Given the description of an element on the screen output the (x, y) to click on. 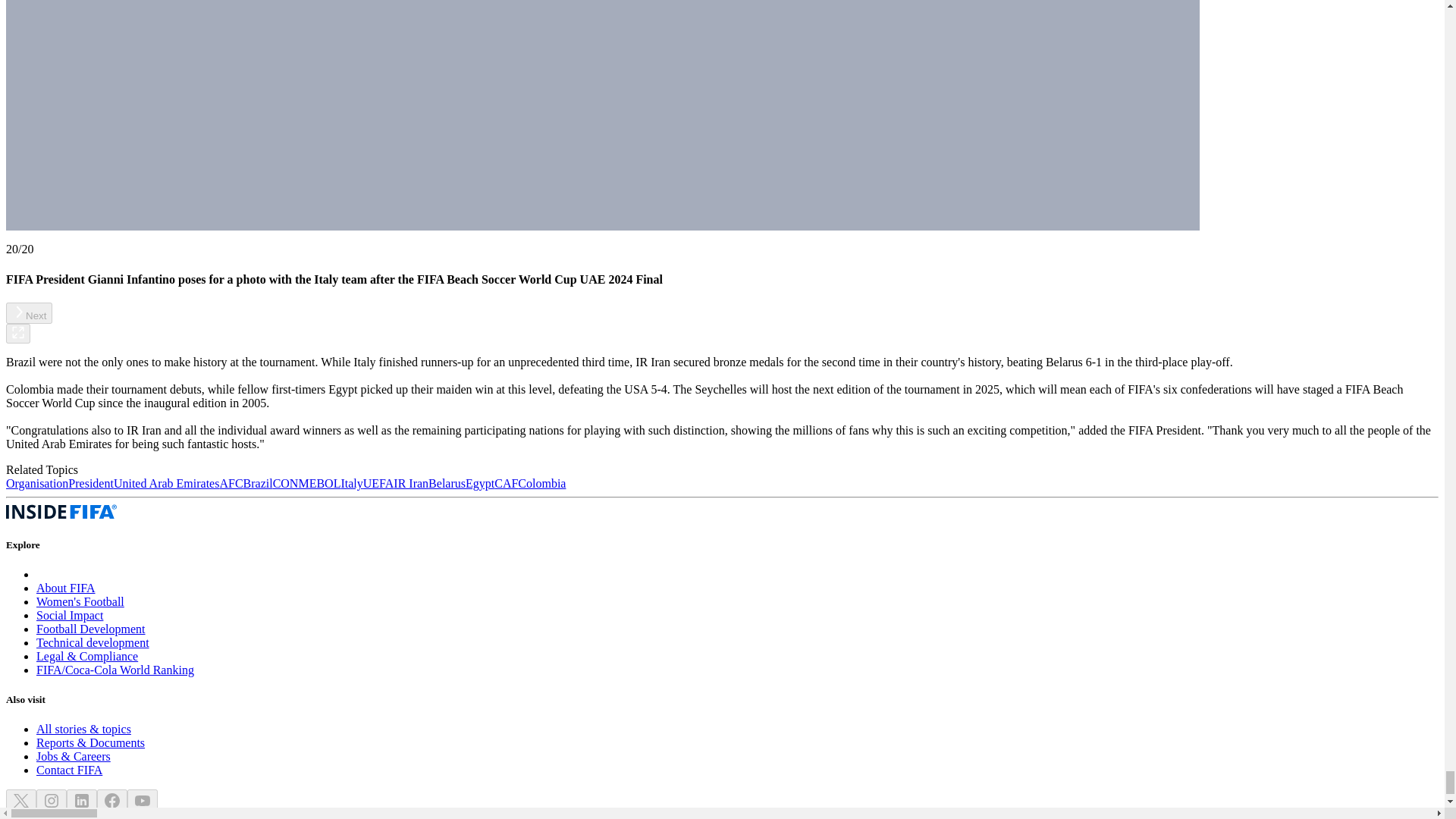
Brazil (258, 482)
Organisation (36, 482)
CONMEBOL (306, 482)
Women's Football (79, 601)
Technical development (92, 642)
CAF (506, 482)
UEFA (378, 482)
Colombia (542, 482)
Egypt (480, 482)
Football Development (90, 628)
AFC (231, 482)
IR Iran (410, 482)
Social Impact (69, 615)
Italy (351, 482)
United Arab Emirates (166, 482)
